Given the description of an element on the screen output the (x, y) to click on. 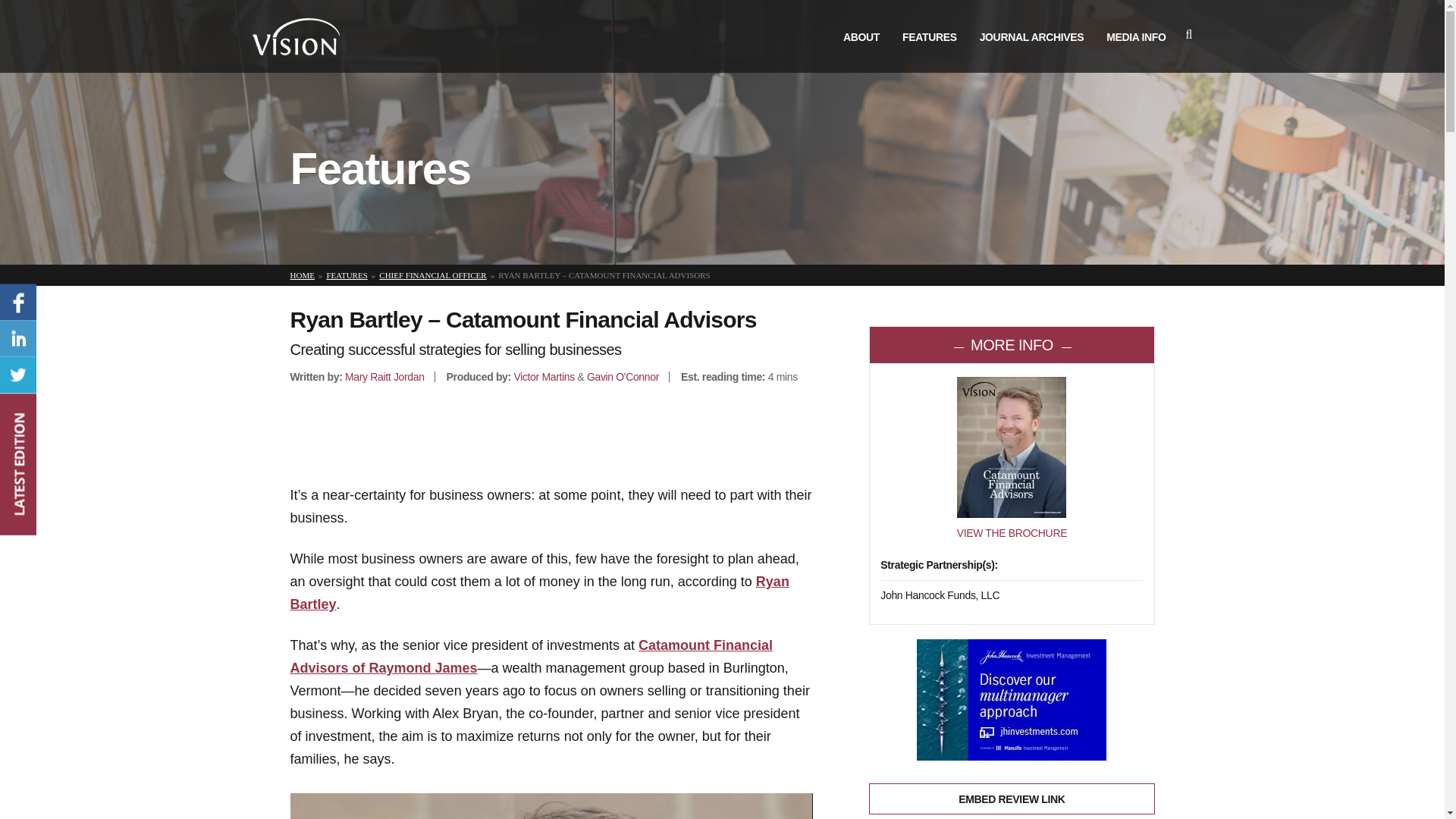
Catamount Financial Advisors of Raymond James (531, 656)
Ryan Bartley (539, 592)
Go to Vision Magazine. (301, 275)
VIEW THE BROCHURE (1011, 532)
Mary Raitt Jordan (385, 377)
John Hancock Funds, LLC (939, 594)
FEATURES (929, 37)
EMBED REVIEW LINK (1011, 798)
Go to Features. (346, 275)
JOURNAL ARCHIVES (1031, 37)
ABOUT (861, 37)
Victor Martins (543, 377)
MEDIA INFO (1136, 37)
FEATURES (346, 275)
Go to the Chief Financial Officer Category archives. (432, 275)
